Given the description of an element on the screen output the (x, y) to click on. 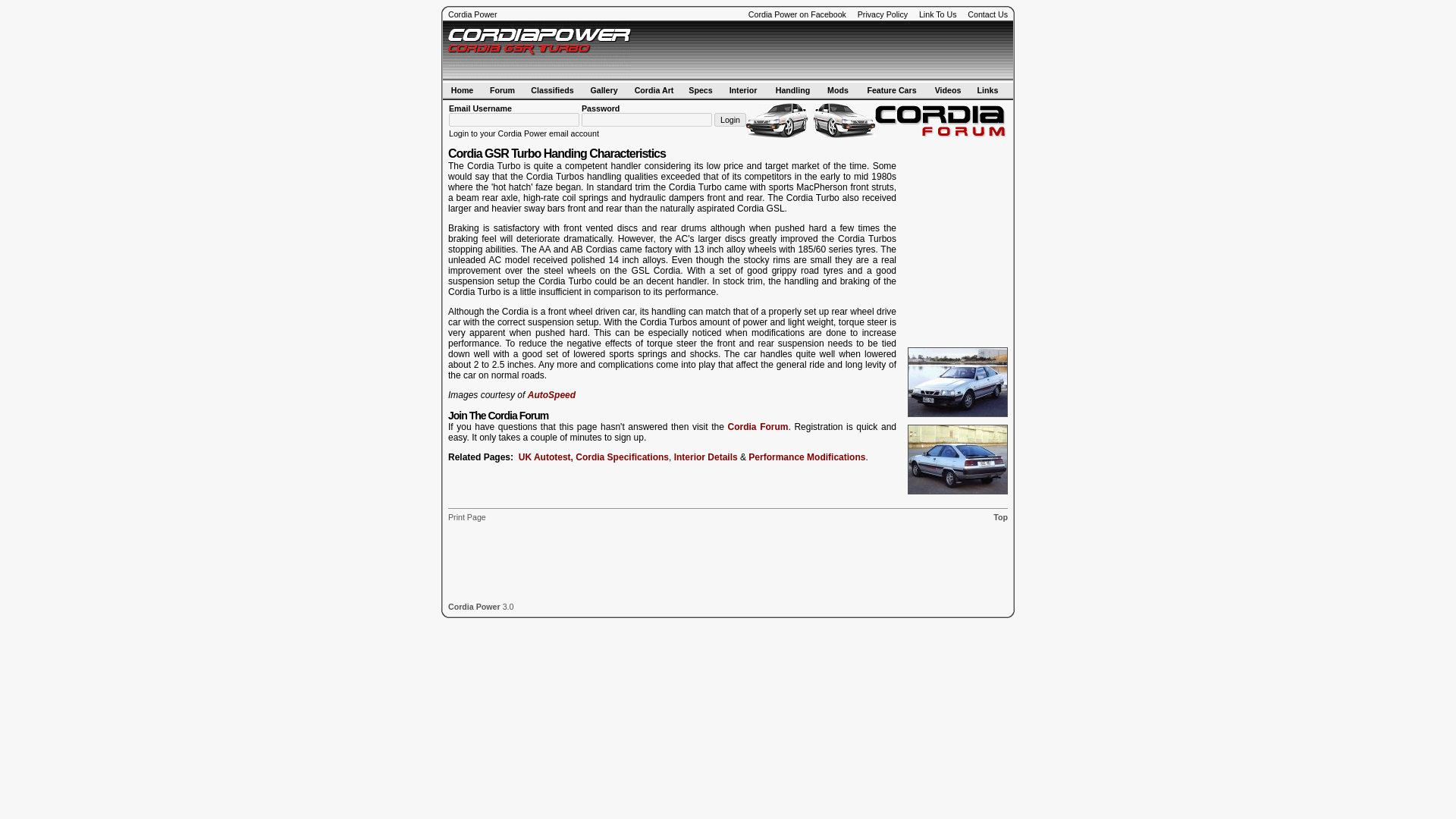
Classifieds (552, 89)
Feature Cars (890, 89)
Privacy Policy (882, 13)
Print Page (467, 516)
Forum (502, 89)
Cordia Forum (758, 426)
Interior Details (706, 457)
UK Autotest, (545, 457)
Contact Us (987, 13)
Cordia Power (474, 605)
Gallery (603, 89)
Performance Modifications (806, 457)
Advertisement (727, 561)
Interior (743, 89)
Login (729, 119)
